Given the description of an element on the screen output the (x, y) to click on. 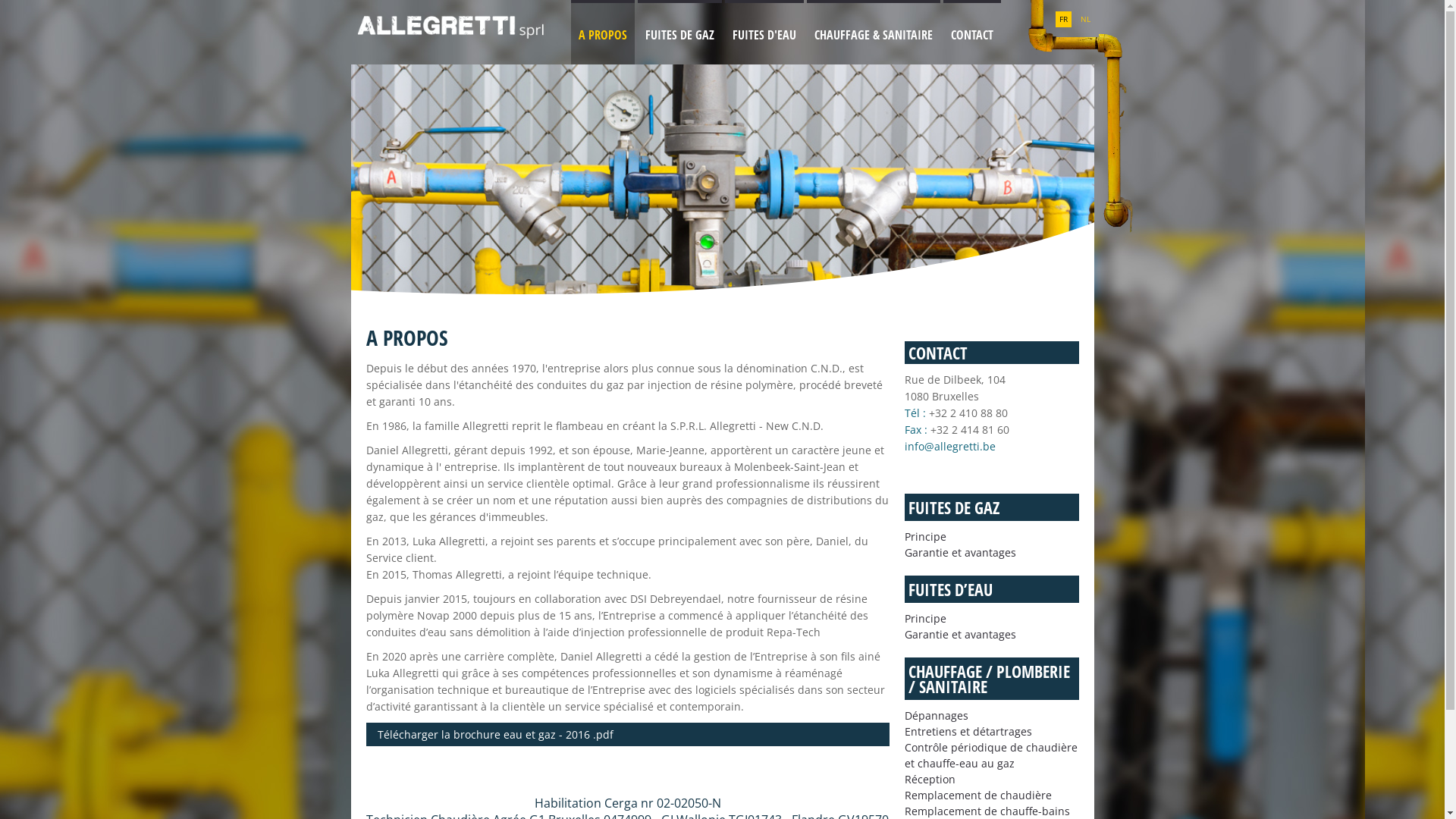
CHAUFFAGE & SANITAIRE Element type: text (873, 35)
FUITES DE GAZ Element type: text (991, 507)
FUITES DE GAZ Element type: text (679, 35)
FUITES D'EAU Element type: text (763, 35)
FR Element type: text (1063, 19)
NL Element type: text (1085, 19)
CHAUFFAGE / PLOMBERIE / SANITAIRE Element type: text (991, 678)
CONTACT Element type: text (972, 35)
info@allegretti.be Element type: text (948, 446)
A PROPOS Element type: text (601, 35)
